Given the description of an element on the screen output the (x, y) to click on. 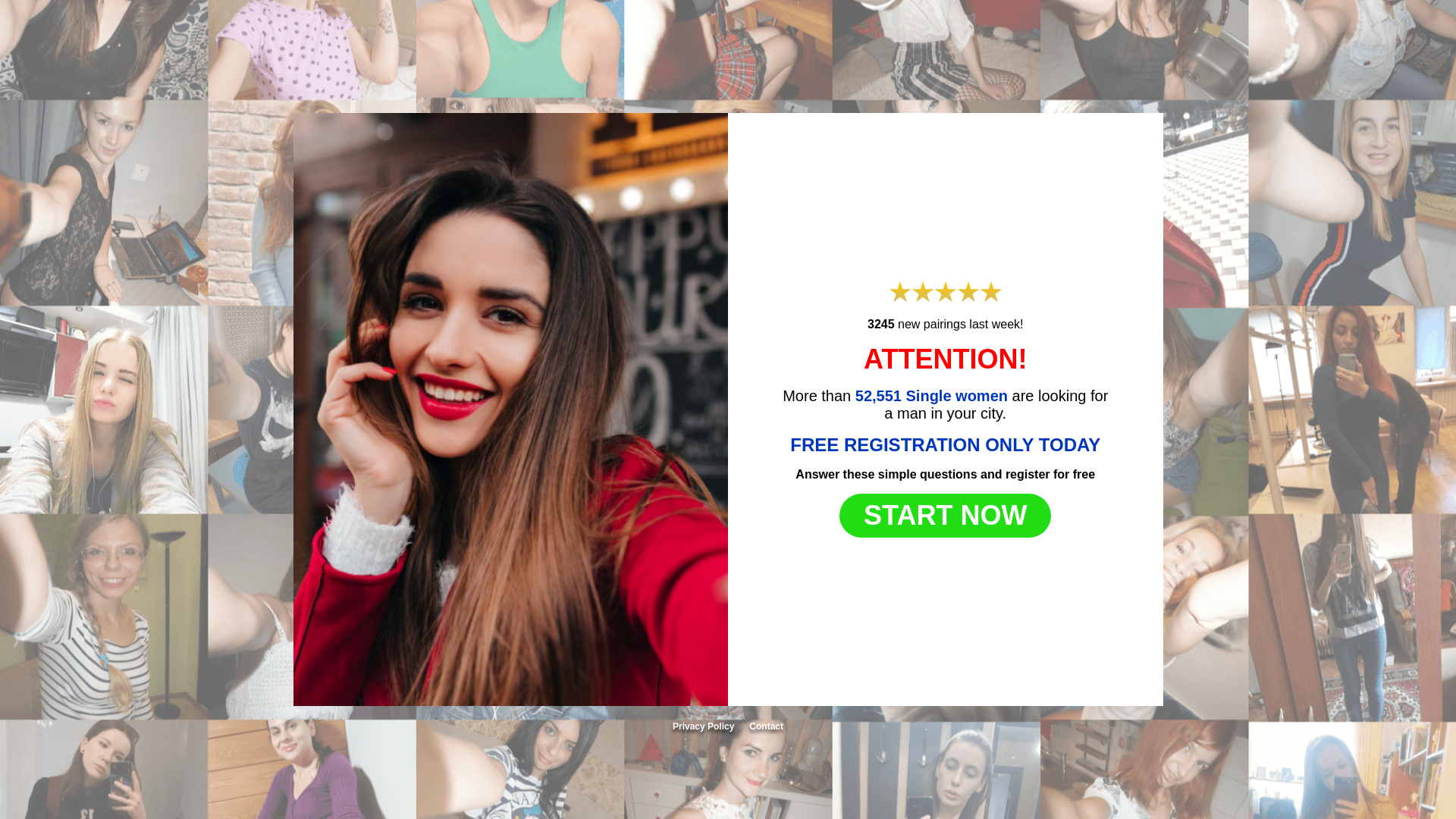
Contact (766, 726)
START NOW (945, 515)
Privacy Policy (702, 726)
